Given the description of an element on the screen output the (x, y) to click on. 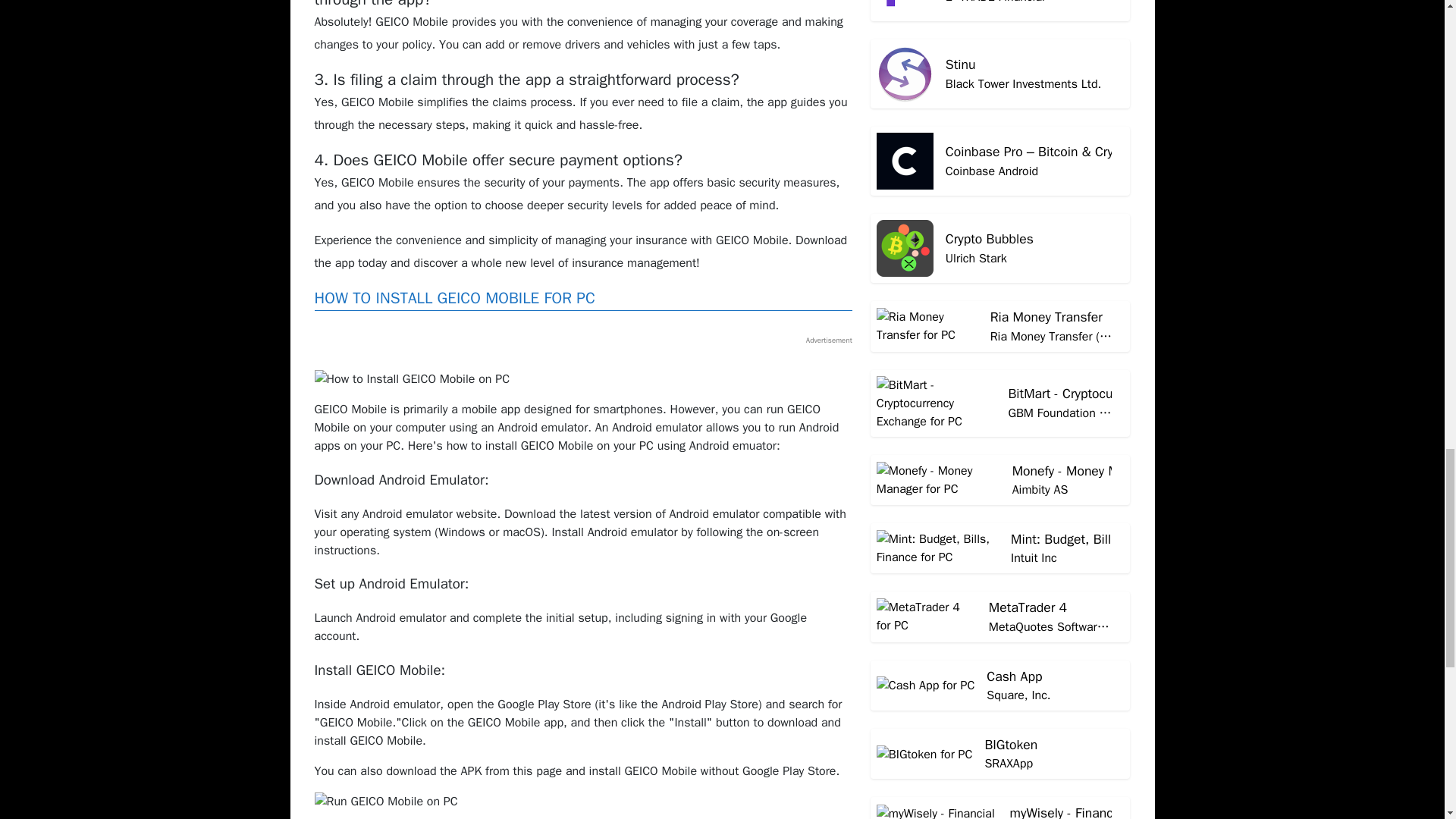
Run GEICO Mobile on PC (385, 801)
How to Install GEICO Mobile on PC (411, 379)
